Given the description of an element on the screen output the (x, y) to click on. 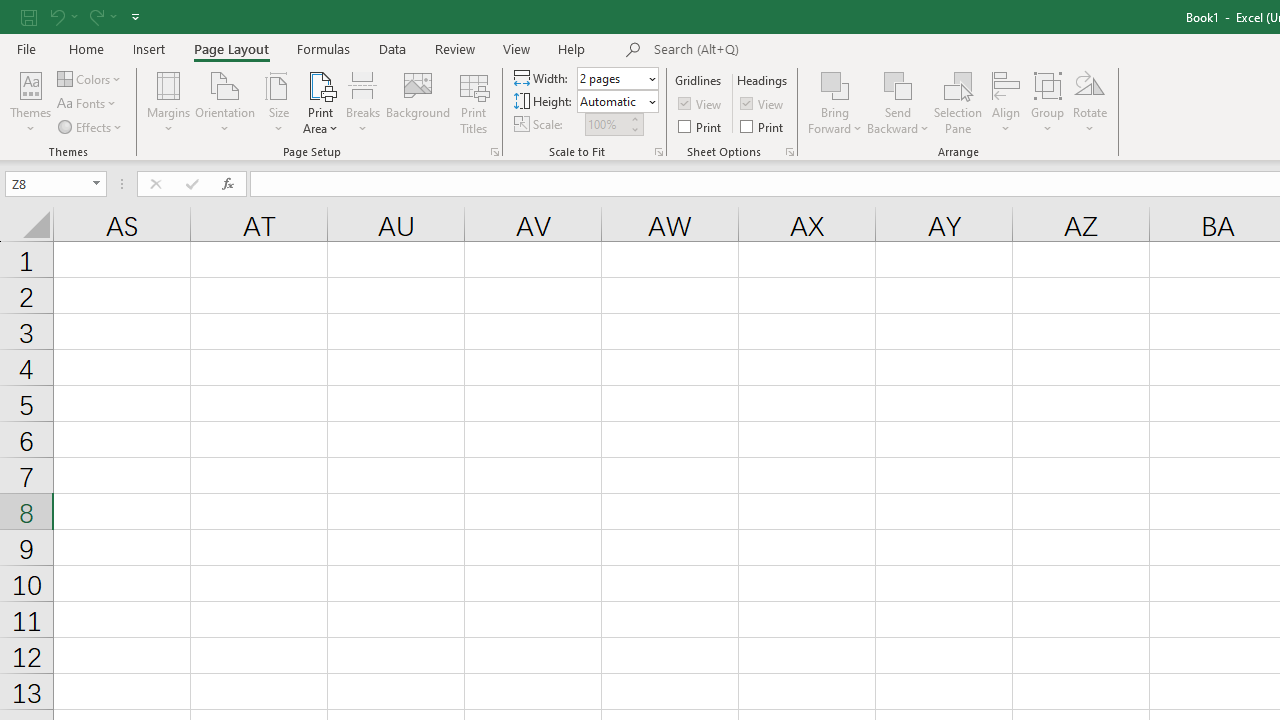
Width (618, 78)
Bring Forward (835, 84)
Orientation (225, 102)
Height (618, 101)
